Given the description of an element on the screen output the (x, y) to click on. 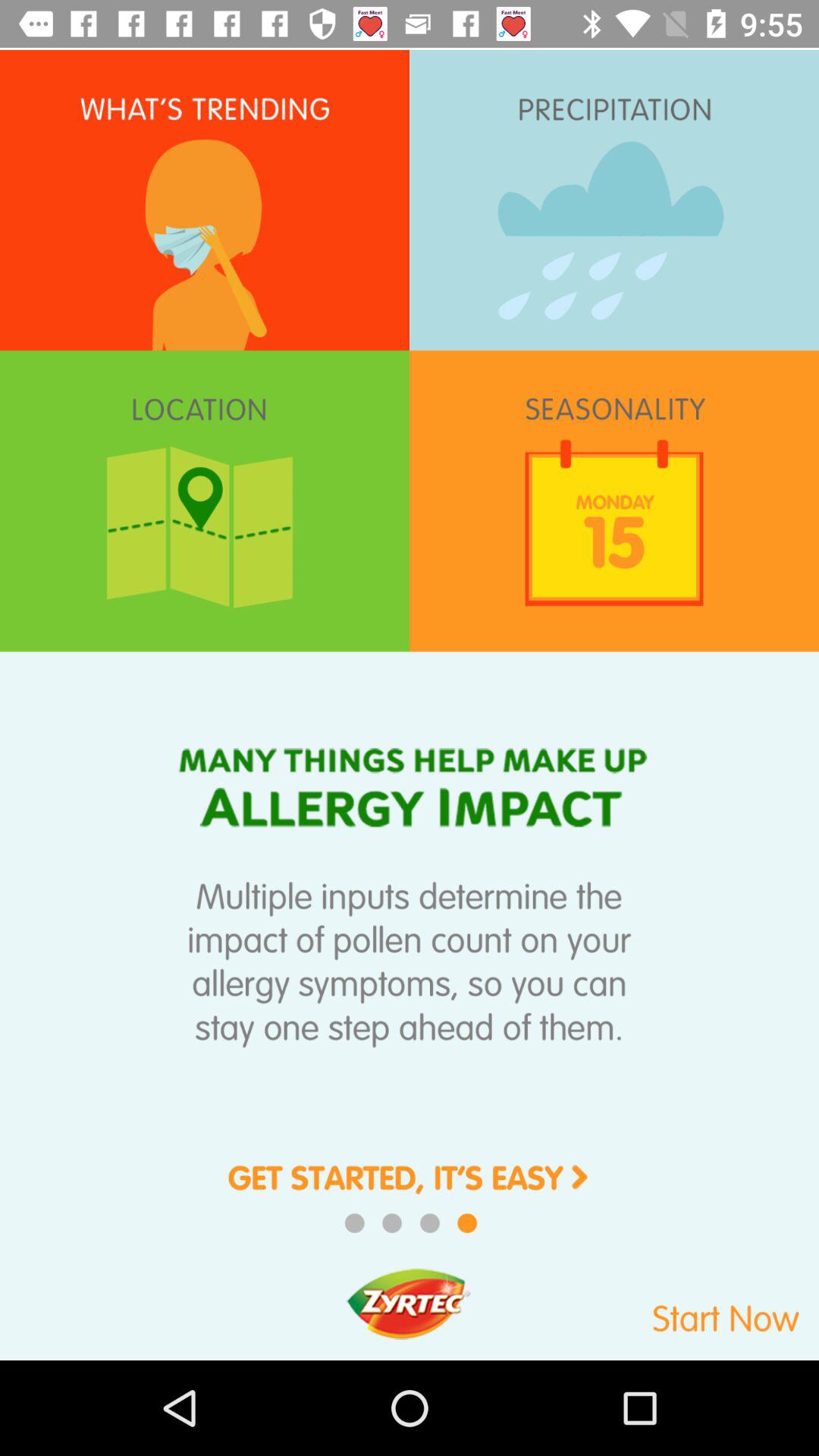
start option (669, 1310)
